Given the description of an element on the screen output the (x, y) to click on. 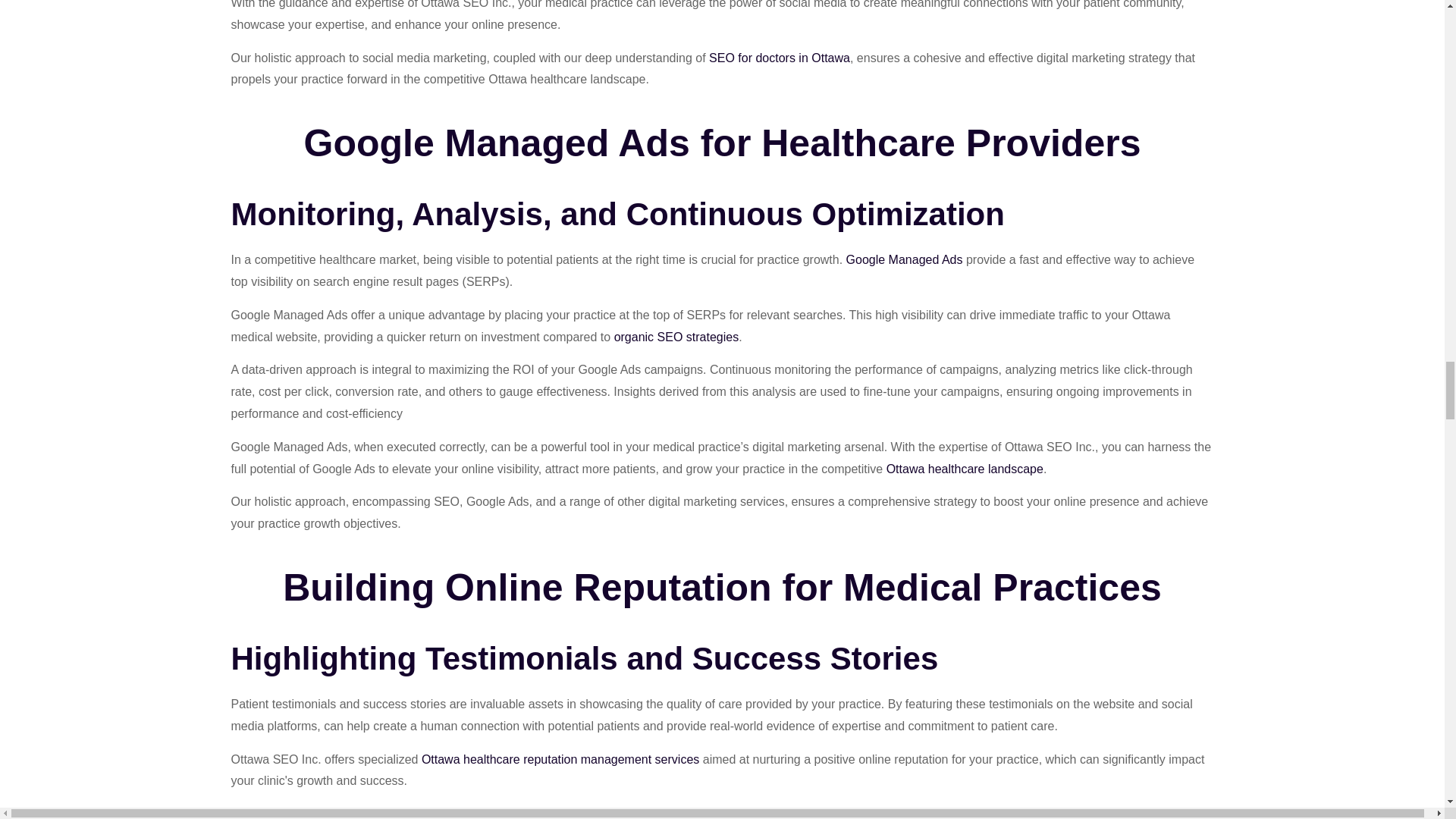
organic SEO strategies (676, 337)
SEO for doctors in Ottawa (779, 58)
Ottawa healthcare landscape (964, 469)
Google Managed Ads (903, 260)
Ottawa healthcare reputation management services (560, 760)
